Given the description of an element on the screen output the (x, y) to click on. 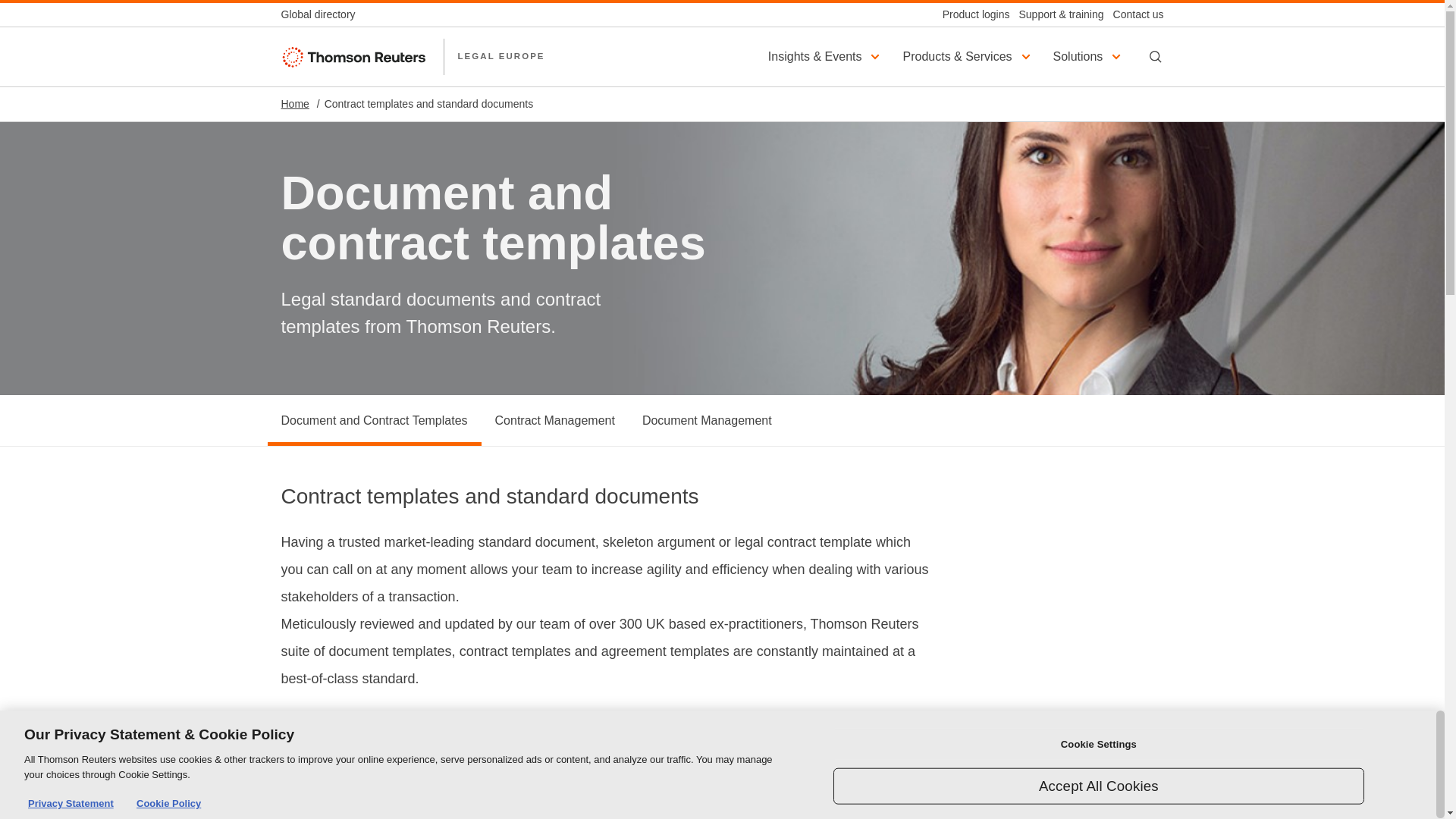
Global directory (322, 14)
Thomson Reuters (355, 56)
Product logins (971, 14)
LEGAL EUROPE (499, 56)
Contact us (1133, 14)
